Given the description of an element on the screen output the (x, y) to click on. 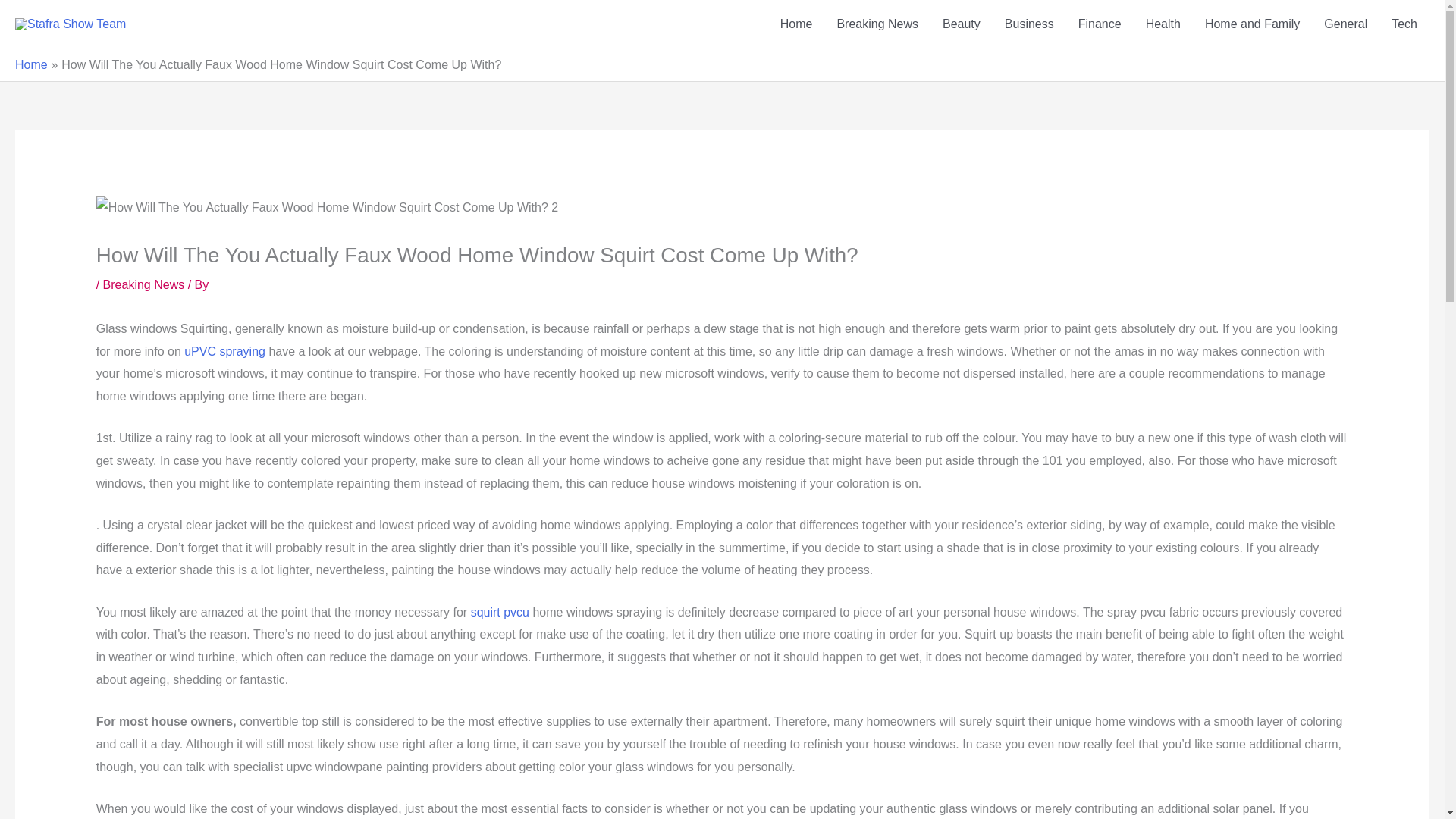
uPVC spraying (224, 350)
Breaking News (143, 284)
General (1344, 24)
Business (1028, 24)
Tech (1403, 24)
Home (31, 64)
Breaking News (877, 24)
Health (1163, 24)
Home (796, 24)
Beauty (961, 24)
